Given the description of an element on the screen output the (x, y) to click on. 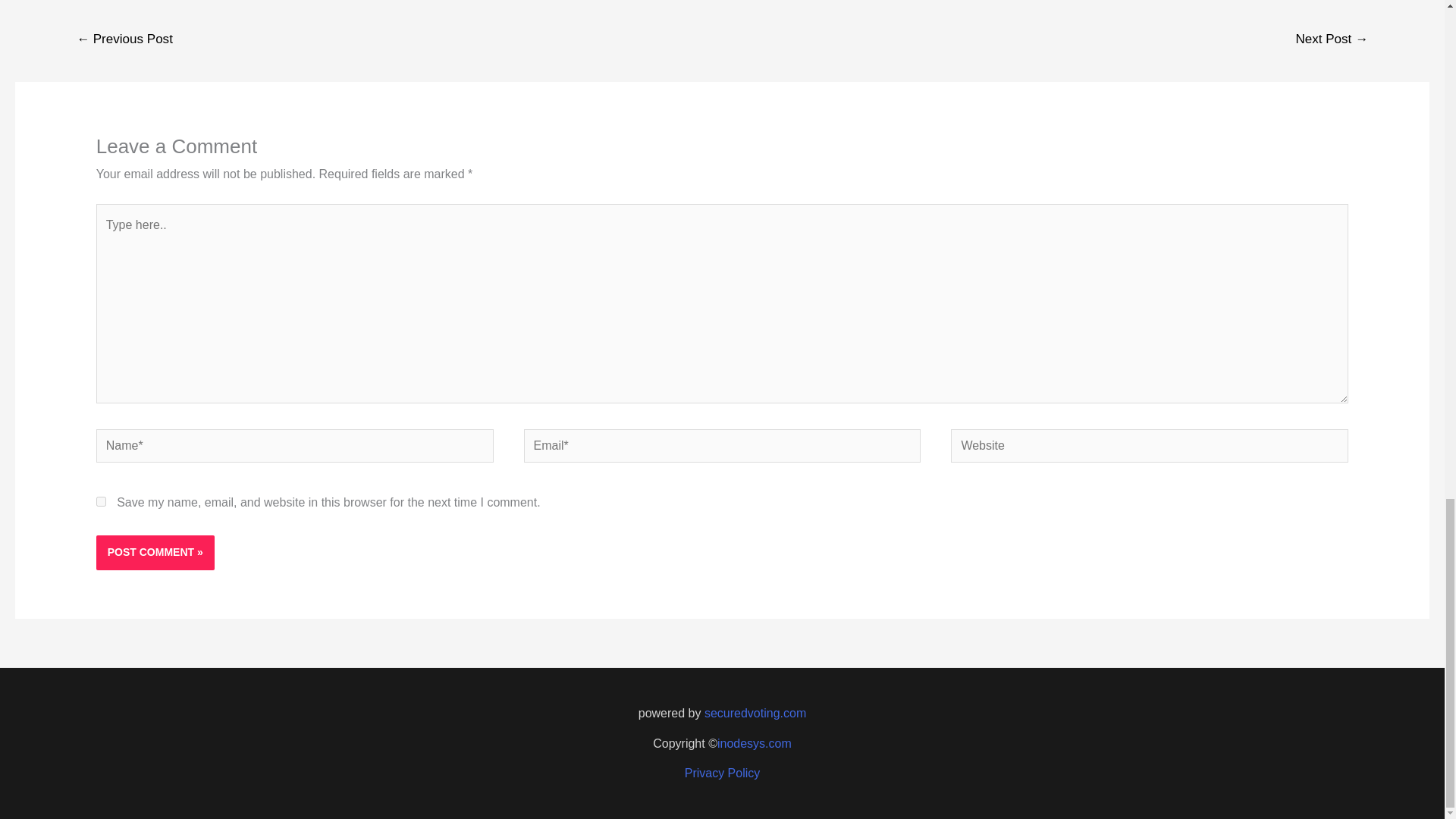
Privacy Policy (722, 772)
securedvoting.com (755, 712)
inodesys.com (754, 743)
yes (101, 501)
